Given the description of an element on the screen output the (x, y) to click on. 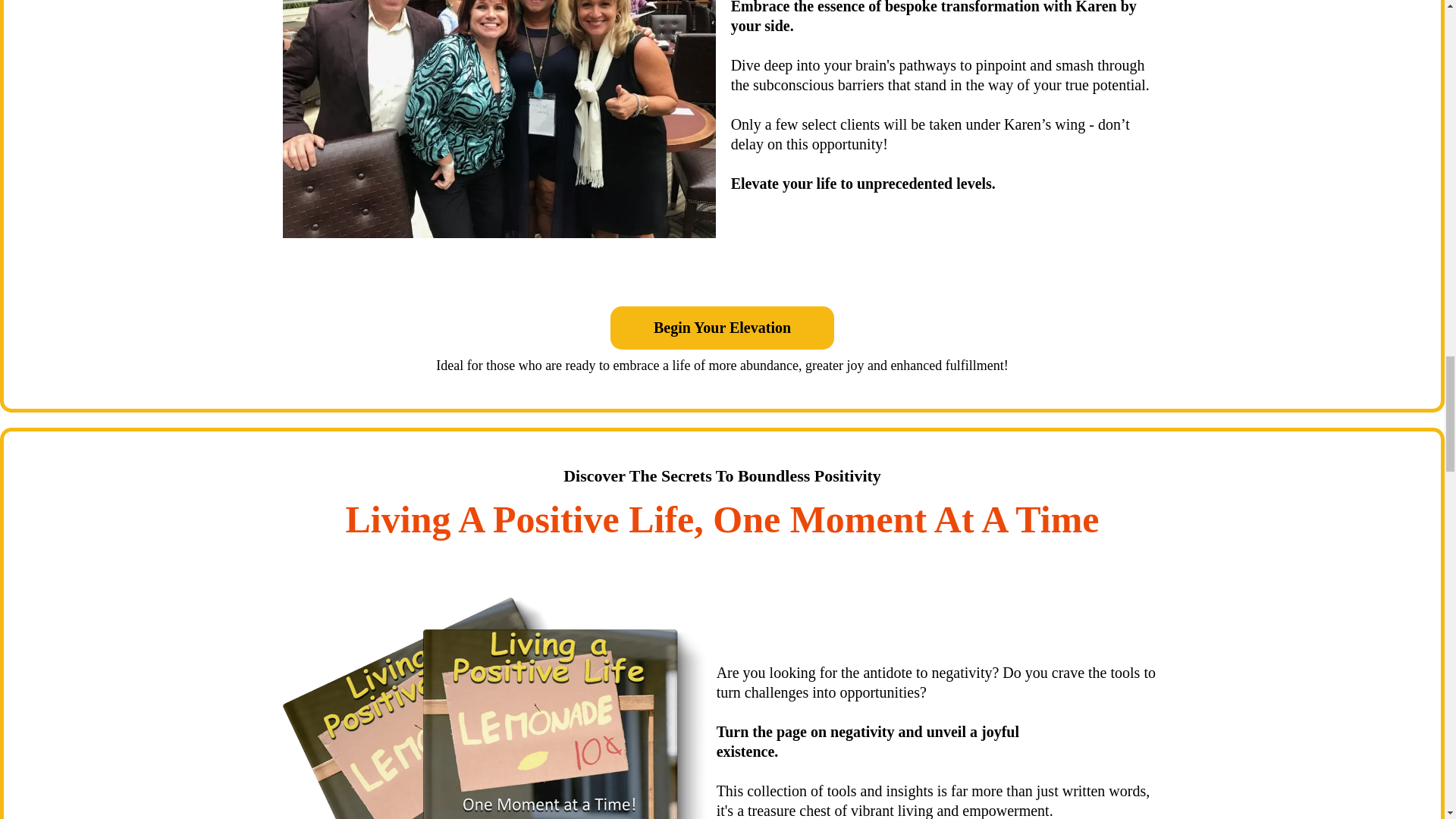
Begin Your Elevation (722, 327)
